Given the description of an element on the screen output the (x, y) to click on. 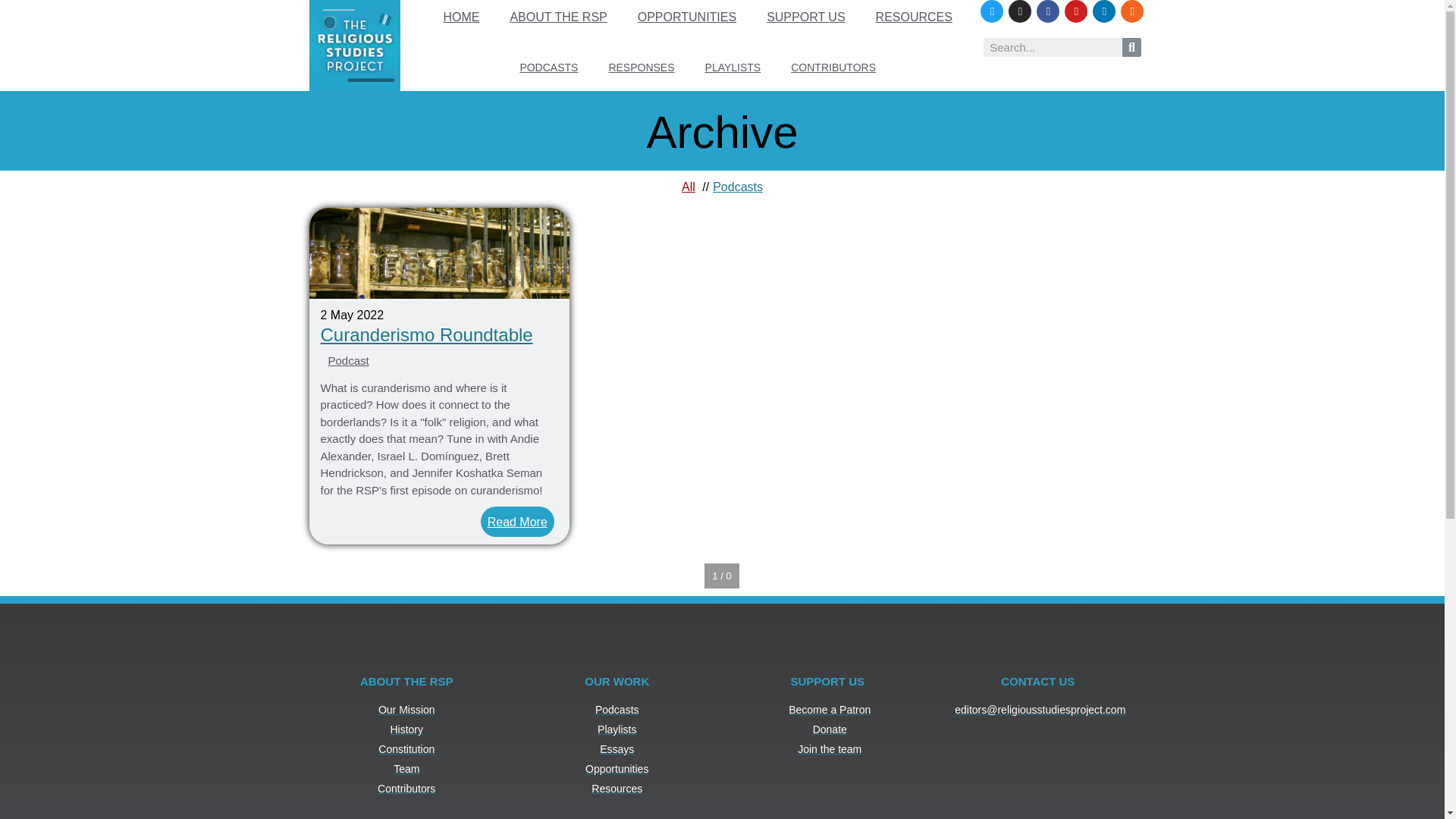
OPPORTUNITIES (687, 17)
CONTRIBUTORS (833, 67)
RESPONSES (640, 67)
ABOUT THE RSP (558, 17)
HOME (461, 17)
PLAYLISTS (733, 67)
Search (1053, 46)
Search (1131, 46)
SUPPORT US (805, 17)
RESOURCES (914, 17)
PODCASTS (547, 67)
